Given the description of an element on the screen output the (x, y) to click on. 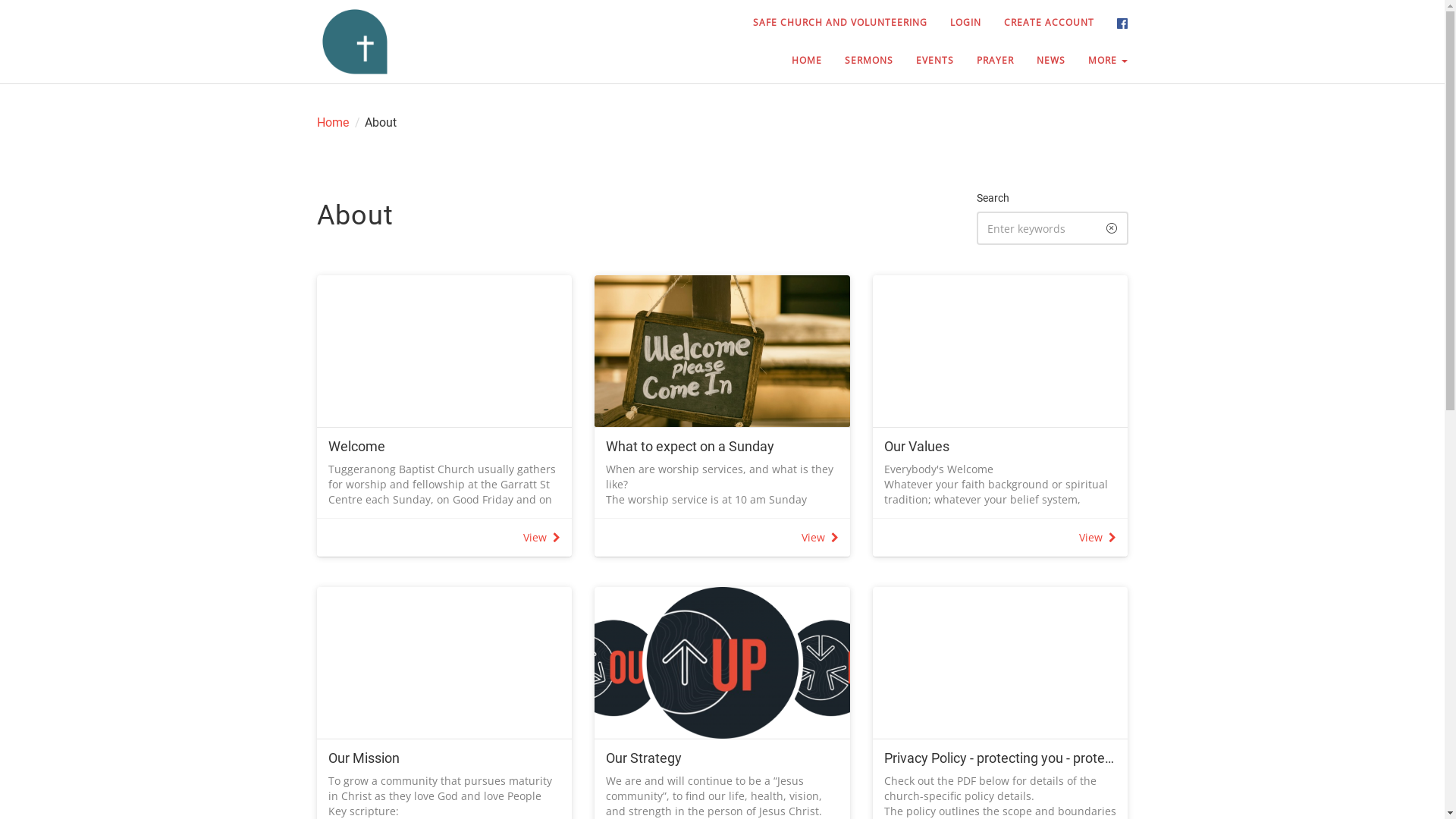
SERMONS Element type: text (868, 60)
CREATE ACCOUNT Element type: text (1048, 22)
LOGIN Element type: text (965, 22)
NEWS Element type: text (1050, 60)
HOME Element type: text (806, 60)
Home Element type: text (332, 122)
SAFE CHURCH AND VOLUNTEERING Element type: text (839, 22)
EVENTS Element type: text (934, 60)
PRAYER Element type: text (995, 60)
MORE Element type: text (1107, 60)
